Given the description of an element on the screen output the (x, y) to click on. 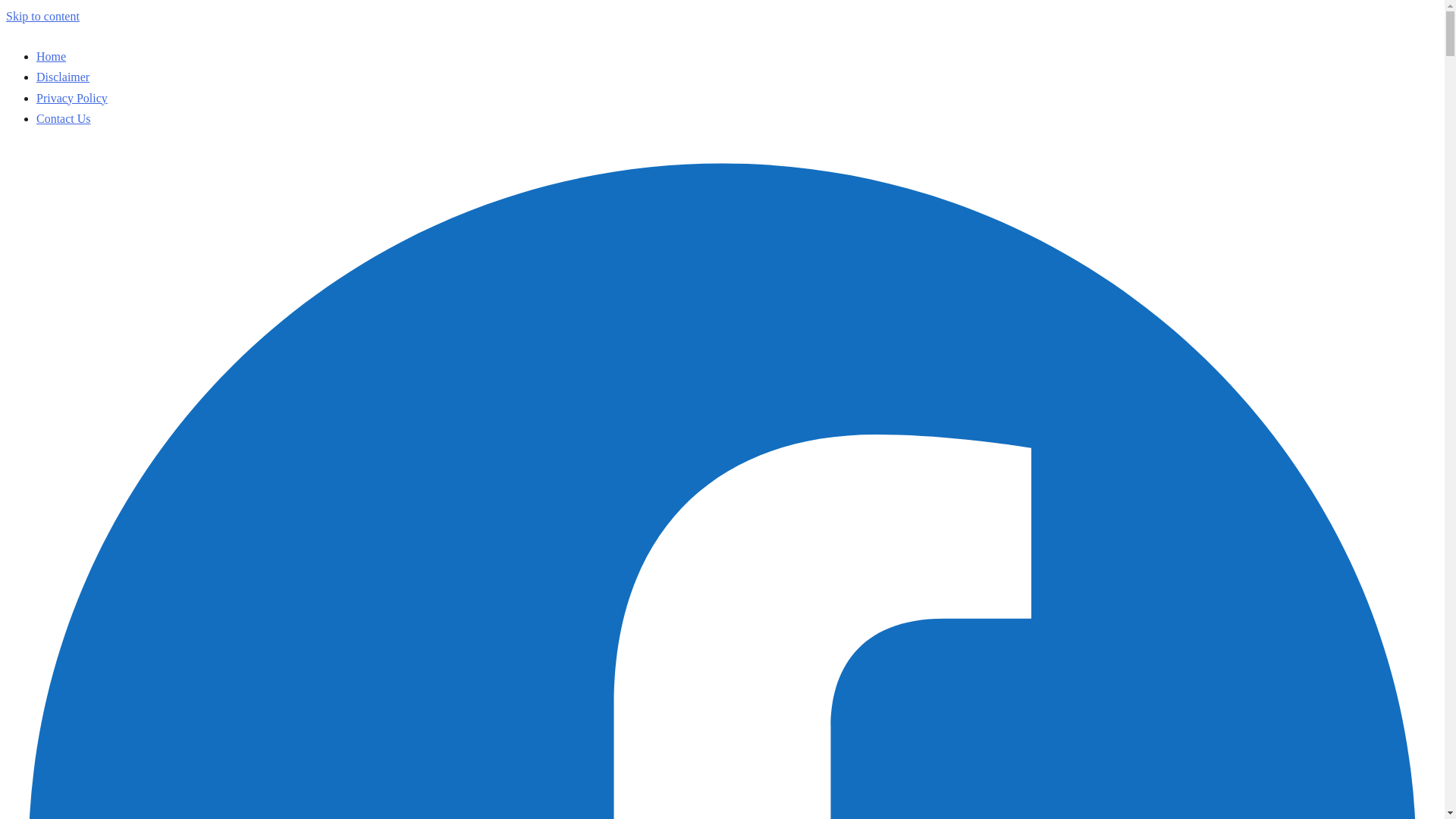
Skip to content (42, 15)
Home (50, 56)
Disclaimer (62, 76)
Privacy Policy (71, 97)
Contact Us (63, 118)
